Given the description of an element on the screen output the (x, y) to click on. 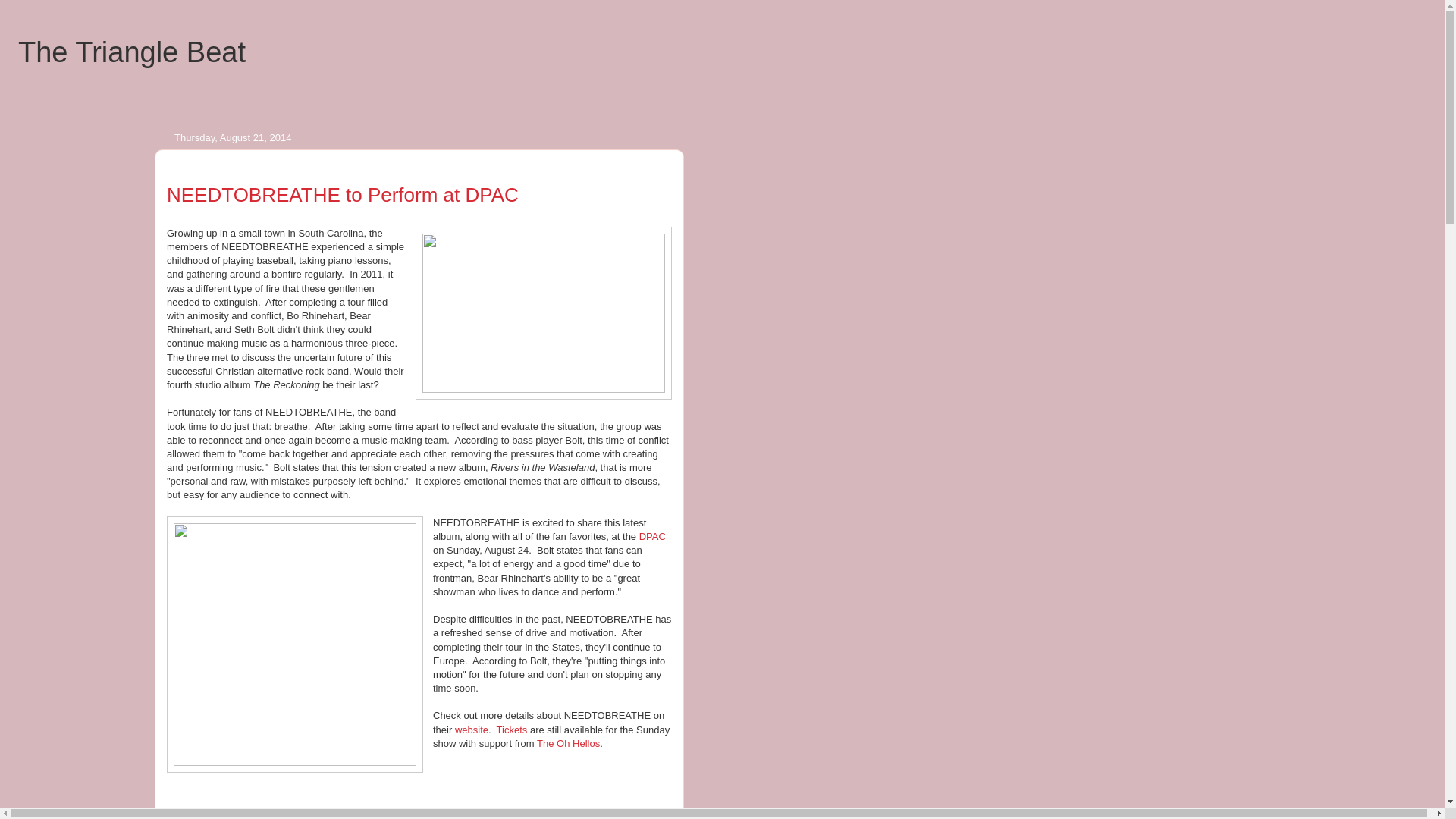
Tickets (511, 729)
The Oh Hellos (568, 743)
website (470, 729)
DPAC (652, 536)
The Triangle Beat (131, 51)
